Given the description of an element on the screen output the (x, y) to click on. 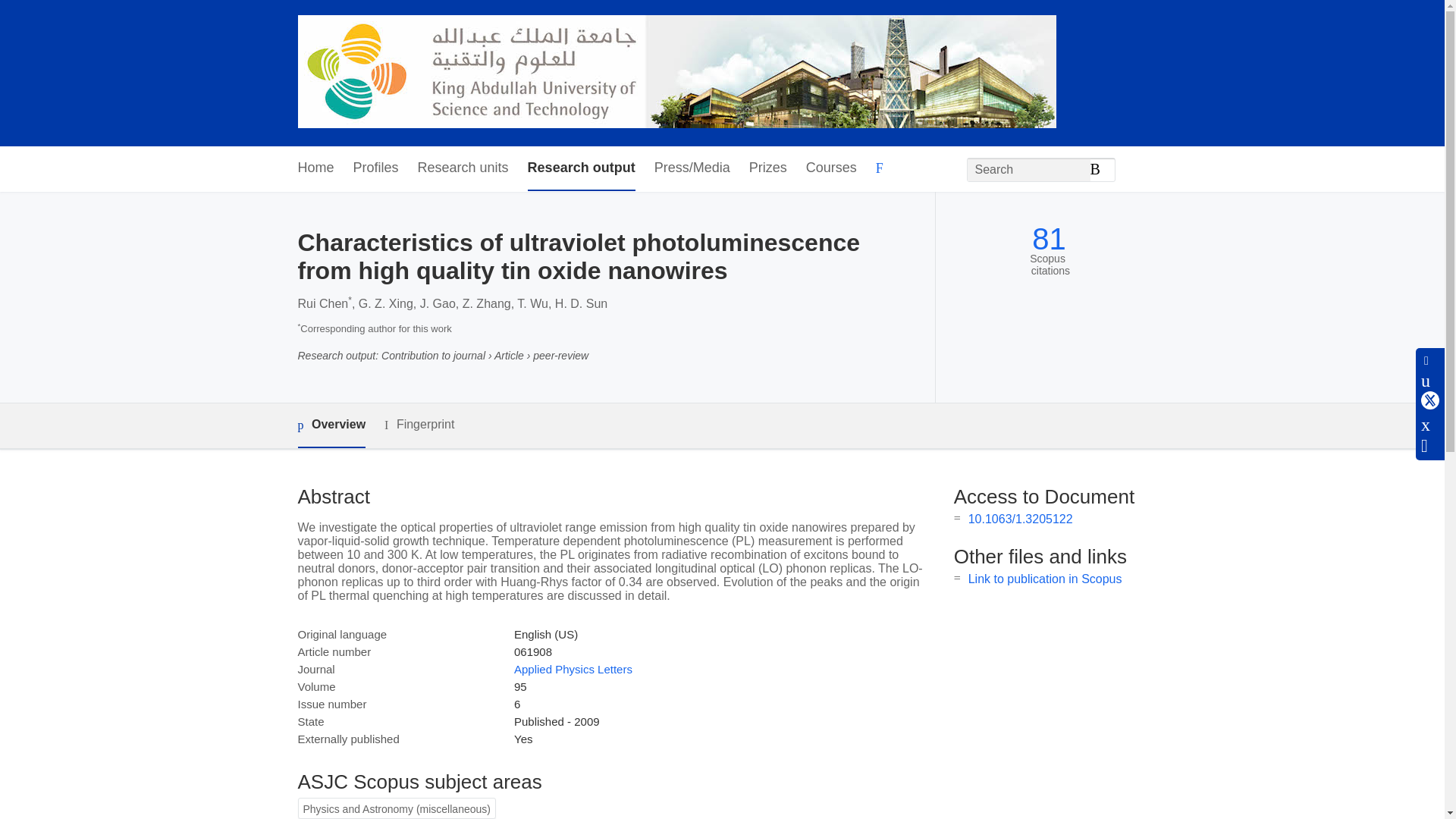
Courses (831, 168)
Profiles (375, 168)
Applied Physics Letters (572, 668)
Fingerprint (419, 424)
81 (1048, 239)
Research output (580, 168)
KAUST FACULTY PORTAL Home (676, 73)
Overview (331, 425)
Research units (462, 168)
